Given the description of an element on the screen output the (x, y) to click on. 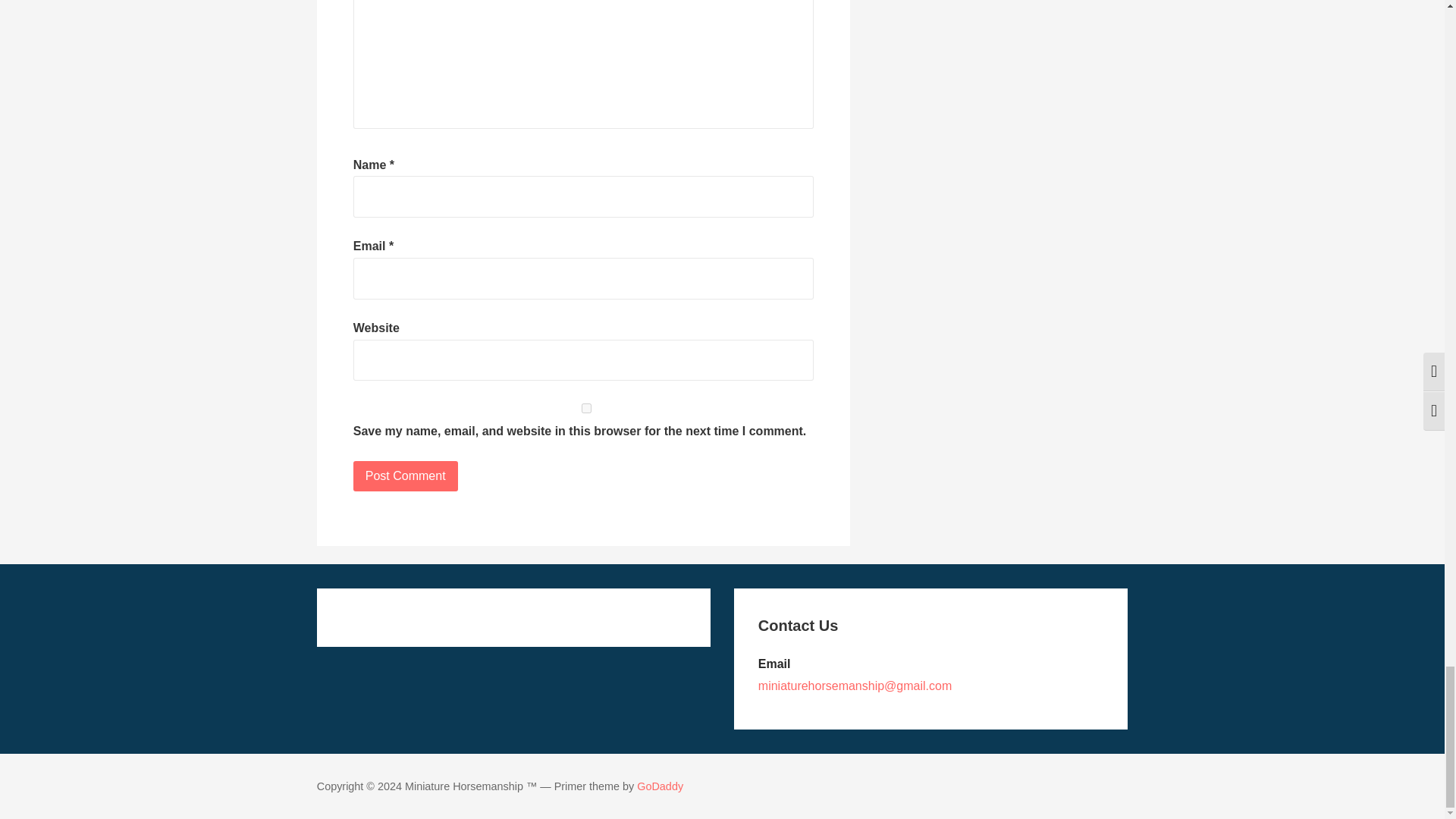
Post Comment (405, 476)
GoDaddy (659, 786)
Post Comment (405, 476)
yes (586, 408)
